Given the description of an element on the screen output the (x, y) to click on. 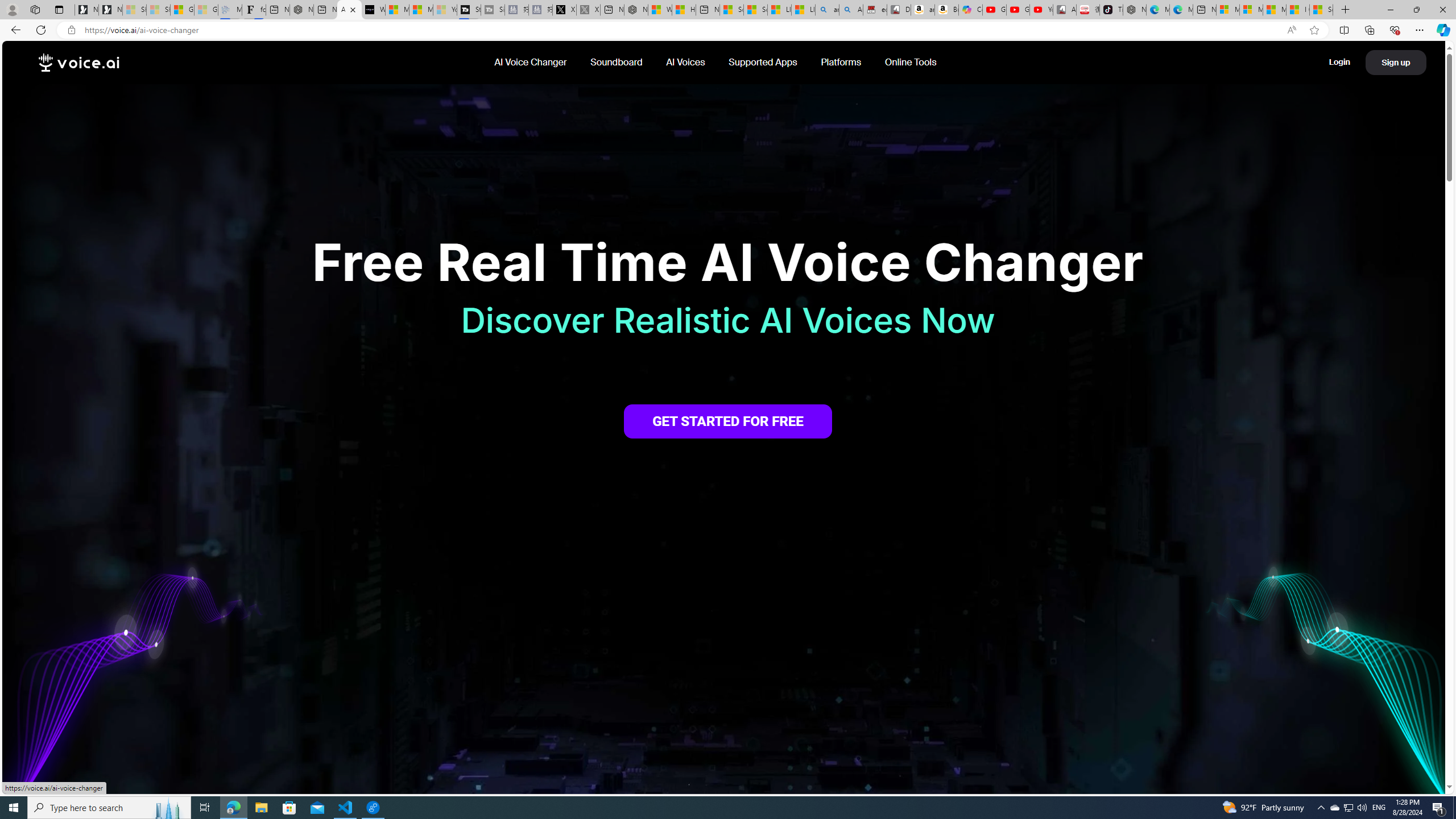
AI Voice Changer for PC and Mac - Voice.ai (349, 9)
Supported Apps  (763, 61)
